Given the description of an element on the screen output the (x, y) to click on. 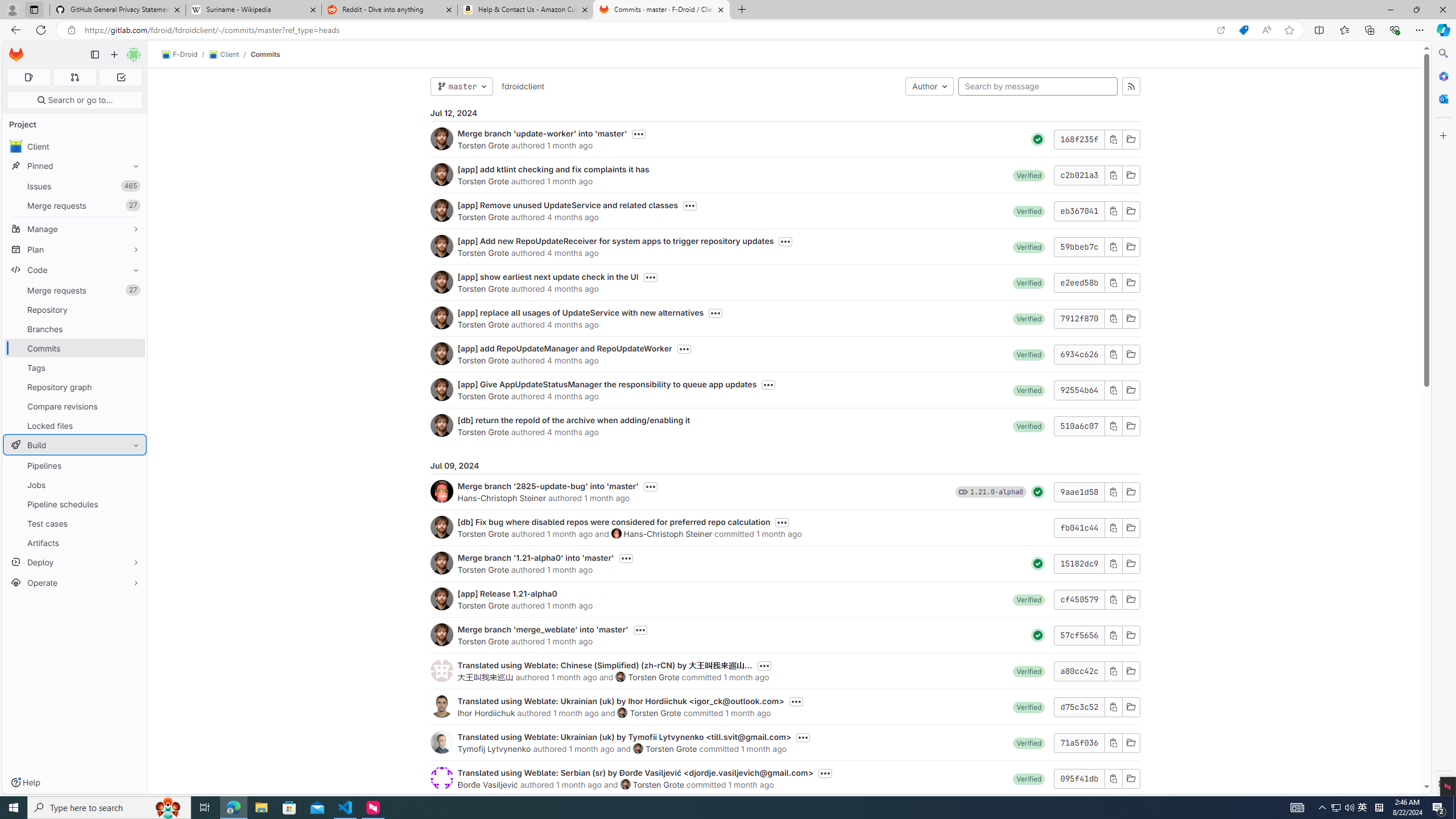
Pin Test cases (132, 523)
Merge branch 'merge_weblate' into 'master' (542, 628)
Class: s16 gl-icon gl-badge-icon (963, 491)
Pin Commits (132, 348)
Merge requests 27 (74, 289)
Compare revisions (74, 406)
master (461, 85)
Client (74, 145)
Ihor Hordiichuk's avatar (440, 706)
